Given the description of an element on the screen output the (x, y) to click on. 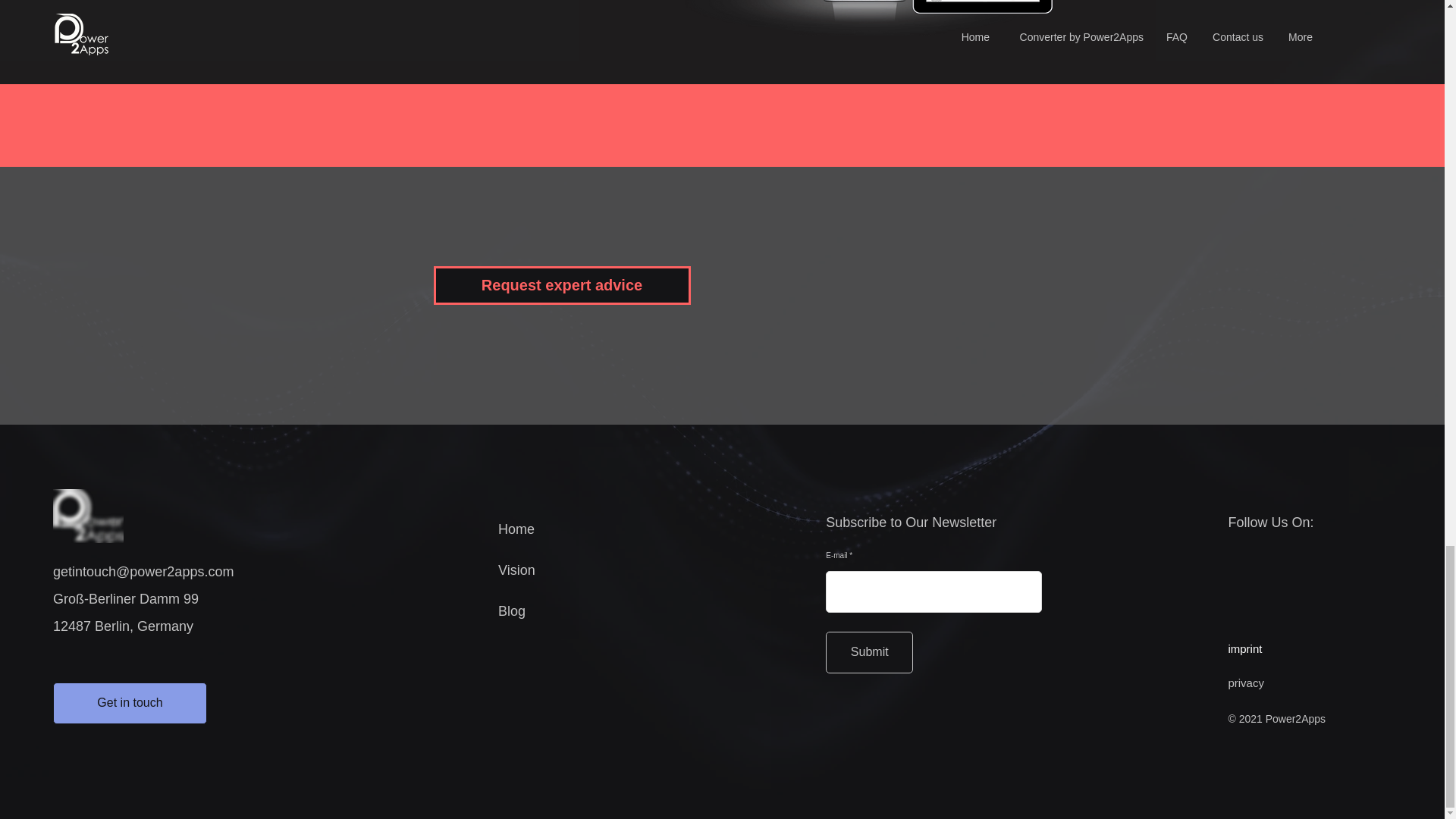
Get in touch (129, 702)
Submit (868, 652)
Home (515, 529)
imprint (1244, 648)
privacy (1245, 682)
Vision (516, 570)
Request expert advice (561, 285)
Blog (511, 611)
